Given the description of an element on the screen output the (x, y) to click on. 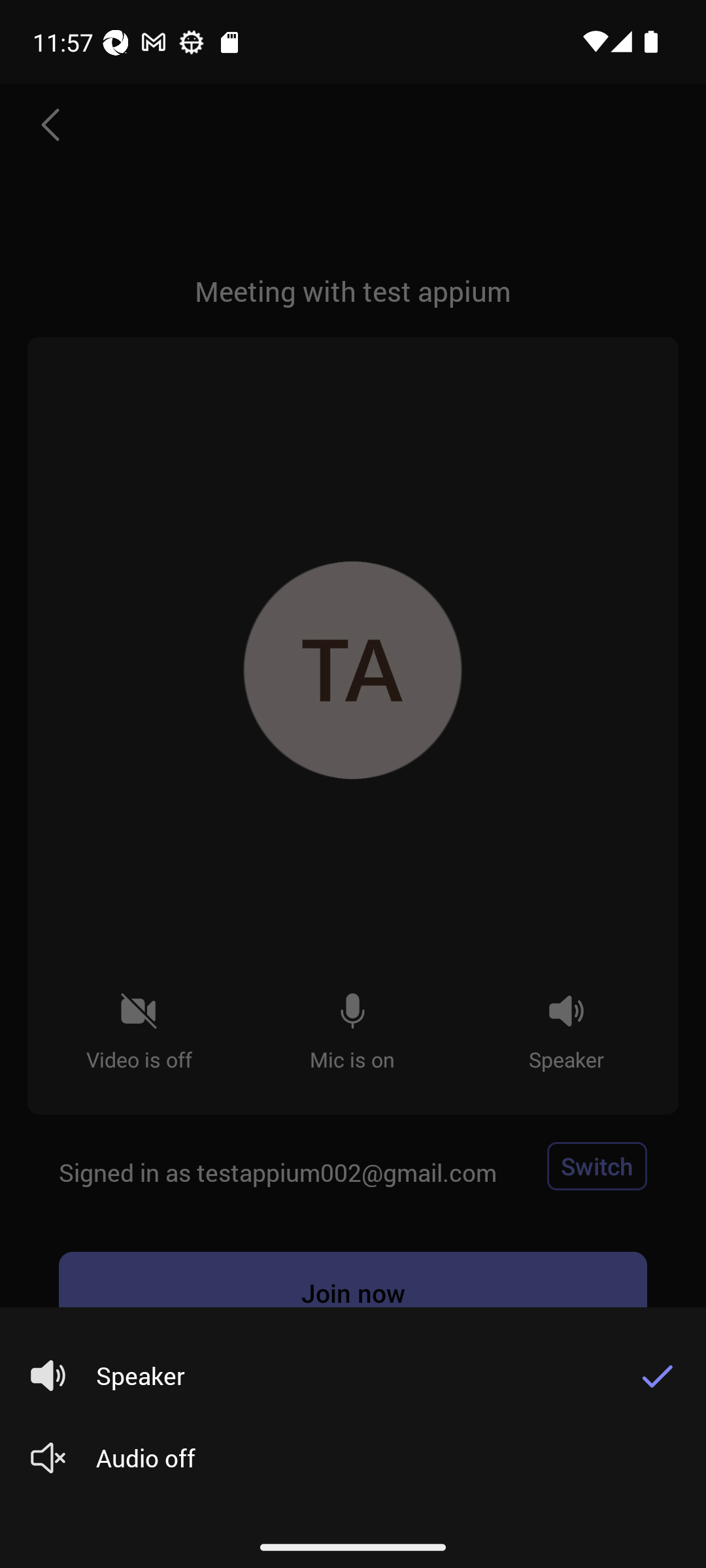
Speaker Speaker selected (311, 1375)
Audio off (346, 1458)
